Given the description of an element on the screen output the (x, y) to click on. 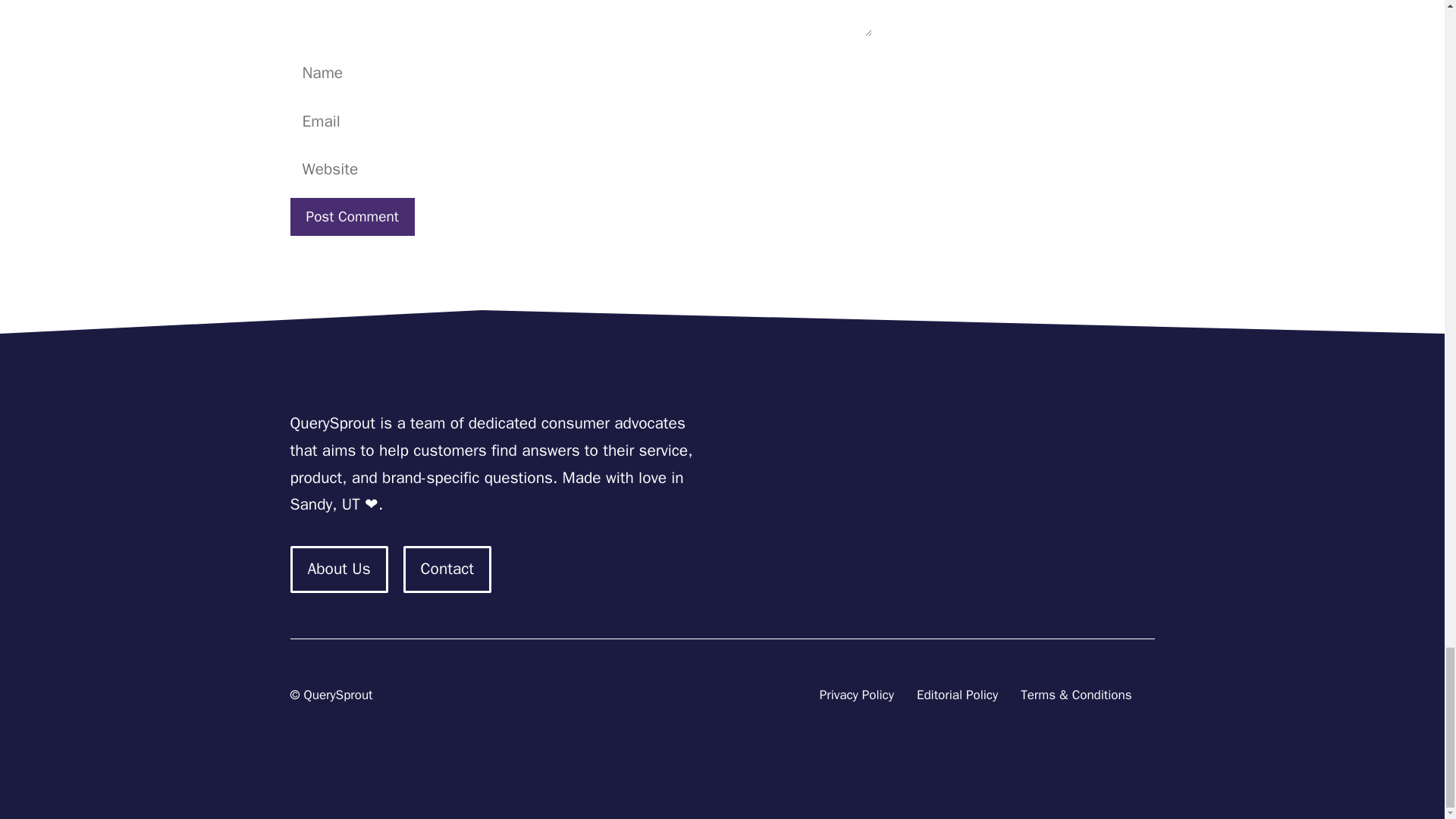
Post Comment (351, 217)
Post Comment (351, 217)
Contact (447, 569)
Editorial Policy (957, 694)
Privacy Policy (856, 694)
About Us (338, 569)
